Given the description of an element on the screen output the (x, y) to click on. 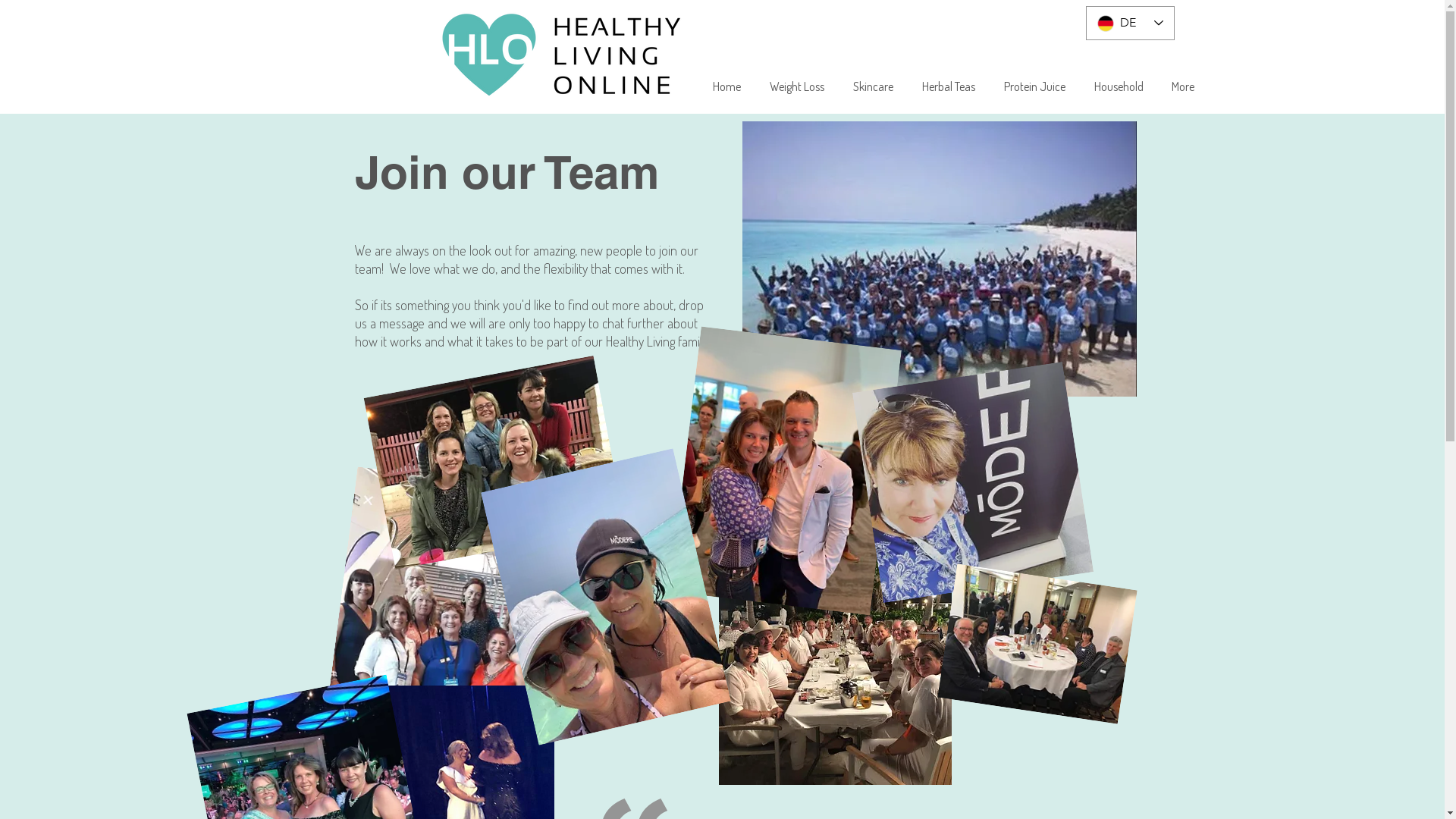
Herbal Teas Element type: text (948, 86)
Weight Loss Element type: text (796, 86)
Home Element type: text (726, 86)
Household Element type: text (1118, 86)
Protein Juice Element type: text (1034, 86)
Skincare Element type: text (872, 86)
